Given the description of an element on the screen output the (x, y) to click on. 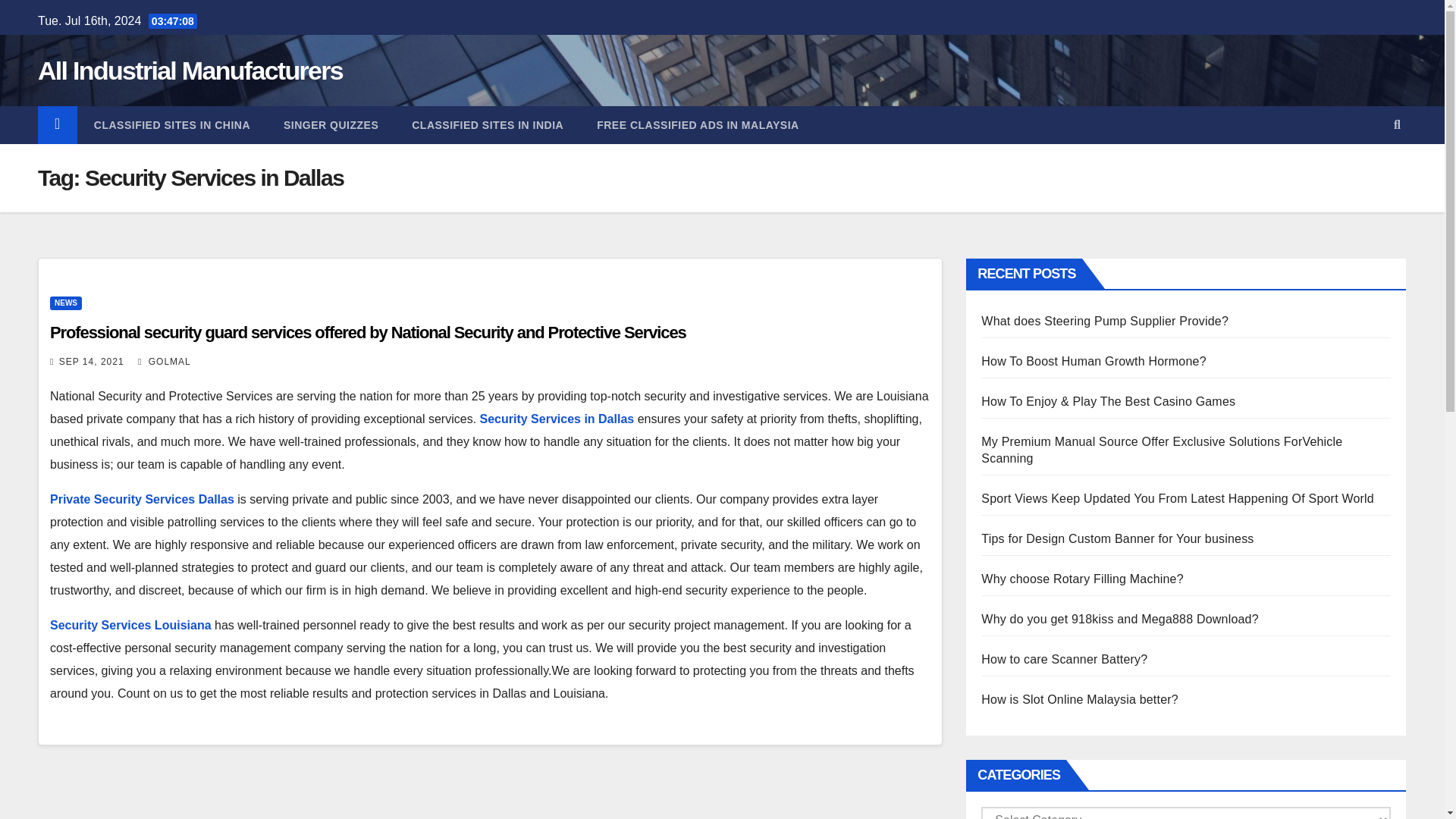
FREE CLASSIFIED ADS IN MALAYSIA (697, 125)
Private Security Services Dallas (141, 499)
Singer Quizzes (330, 125)
CLASSIFIED SITES IN CHINA (171, 125)
CLASSIFIED SITES IN INDIA (486, 125)
Security Services Louisiana (130, 625)
All Industrial Manufacturers (189, 70)
Security Services in Dallas (557, 418)
SINGER QUIZZES (330, 125)
Why choose Rotary Filling Machine? (1081, 578)
How to care Scanner Battery? (1064, 658)
GOLMAL (164, 361)
Why do you get 918kiss and Mega888 Download? (1119, 618)
